Given the description of an element on the screen output the (x, y) to click on. 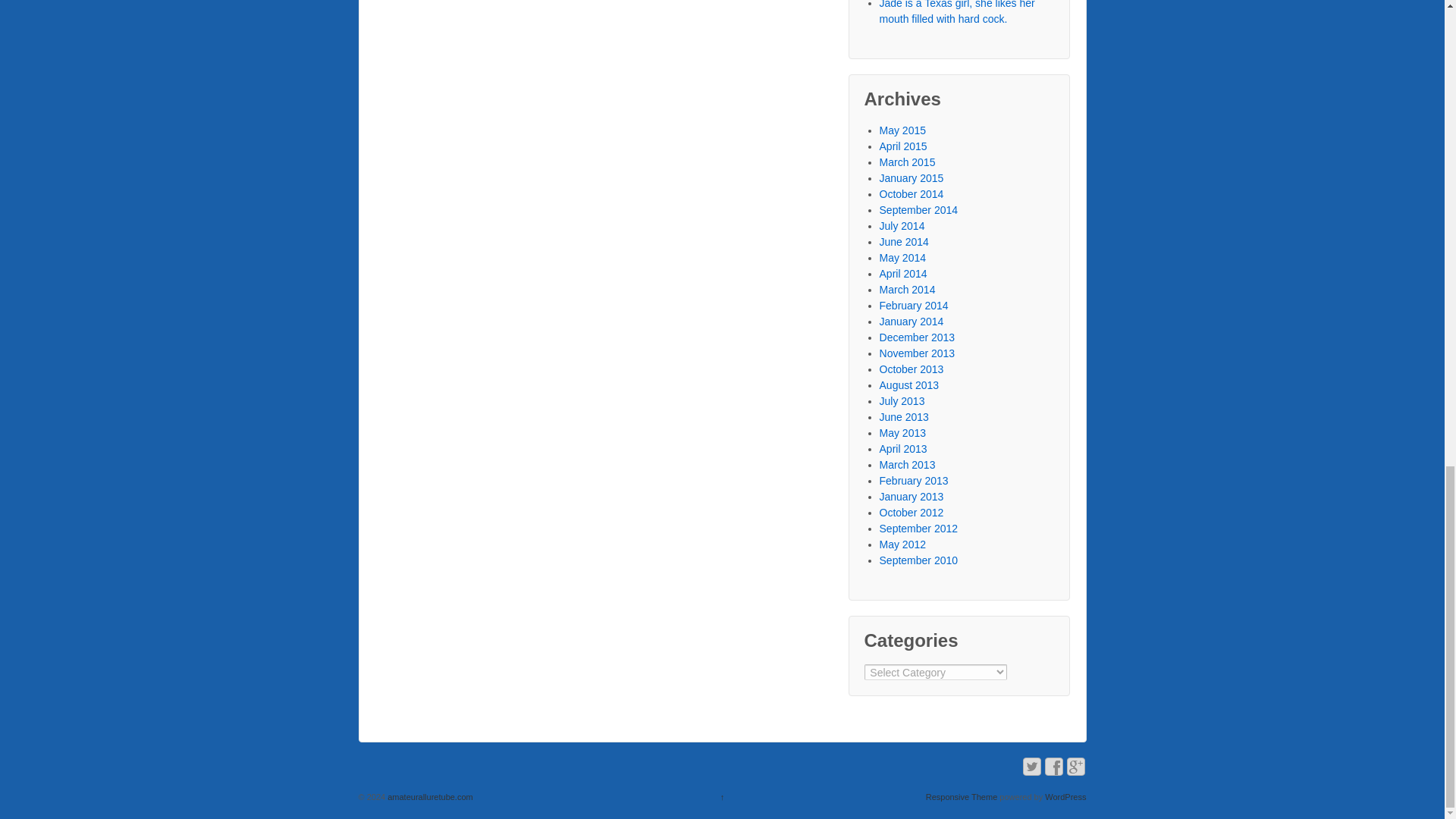
Responsive Theme (961, 796)
amateuralluretube.com (429, 796)
WordPress (1065, 796)
scroll to top (722, 796)
